Given the description of an element on the screen output the (x, y) to click on. 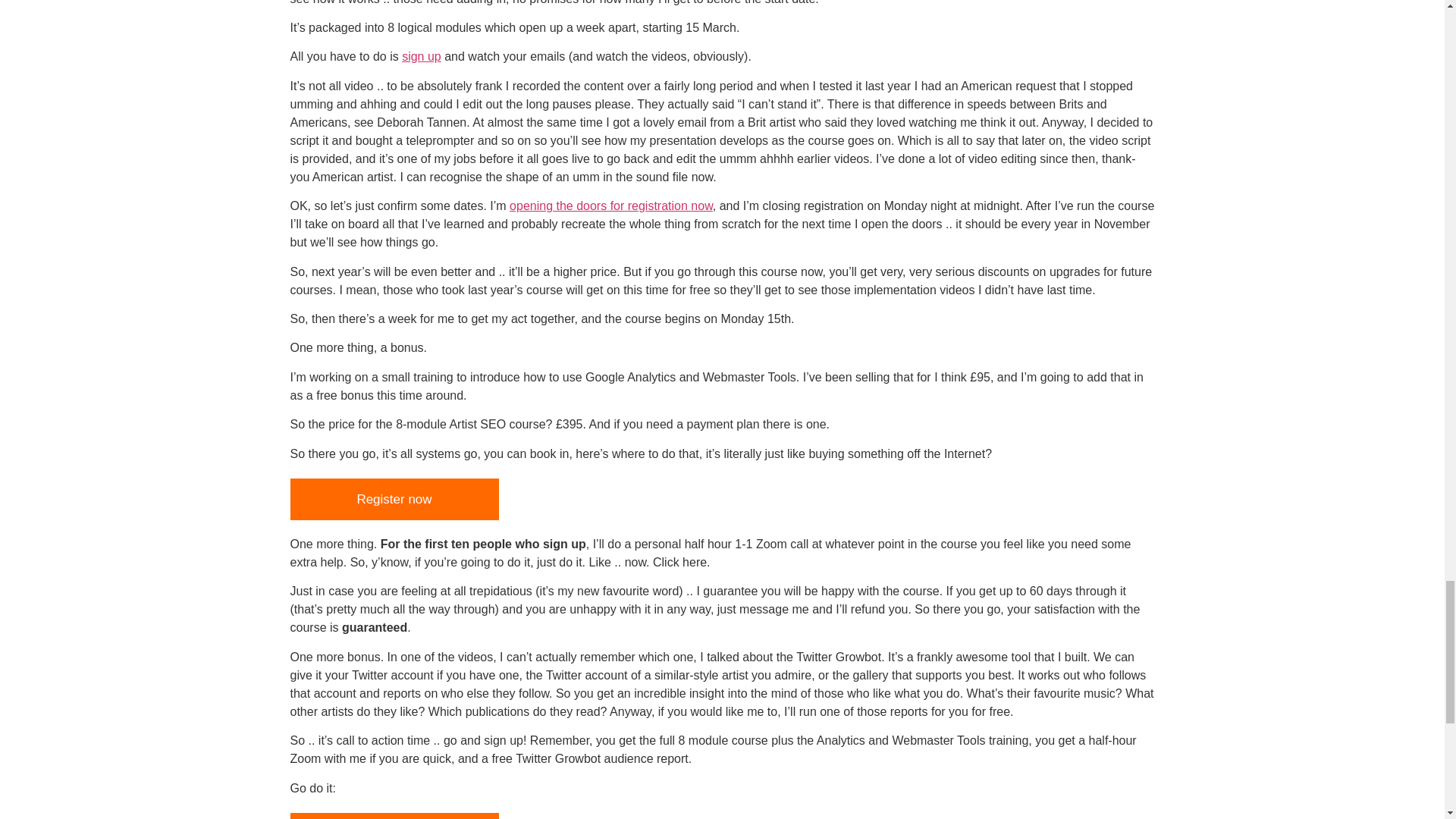
opening the doors for registration now (611, 205)
sign up (421, 56)
Register now (393, 498)
Register Now (393, 816)
